Given the description of an element on the screen output the (x, y) to click on. 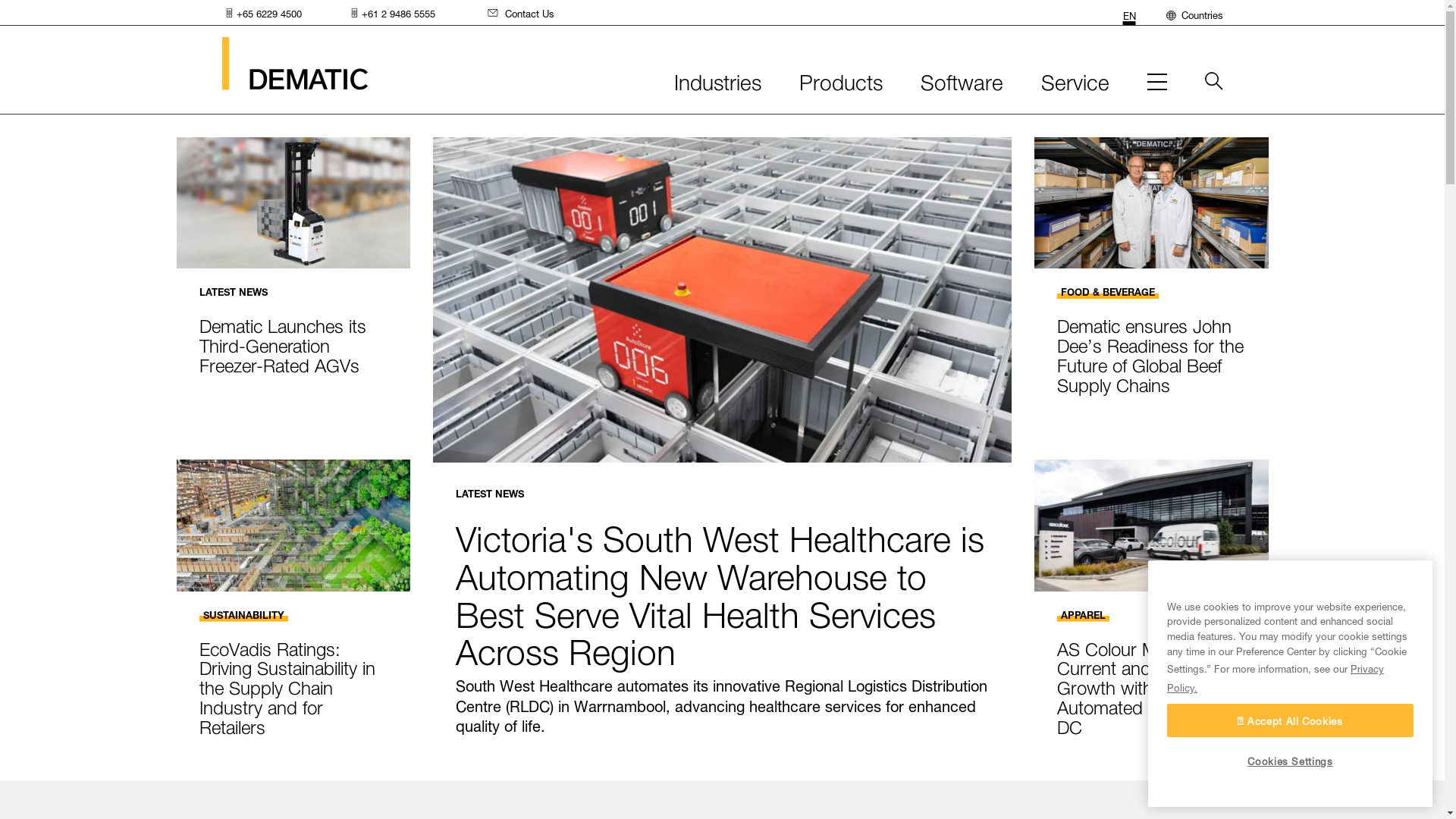
Ecovadis p20 Element type: hover (292, 524)
dematic logo Element type: hover (294, 63)
EN Element type: text (1128, 13)
Dematic Launches its Third-Generation Freezer-Rated AGVs Element type: text (281, 342)
dematic-3rd-gen-freezer-agvs.jpg Element type: hover (292, 202)
+65 6229 4500 Element type: text (261, 12)
Accept All Cookies Element type: text (1290, 720)
AS Colour Auckland Warehouse Element type: hover (1150, 524)
Contact Us Element type: text (517, 12)
FOOD & BEVERAGE Element type: text (1107, 291)
Industries Element type: text (716, 85)
Countries Element type: text (1194, 12)
+61 2 9486 5555 Element type: text (391, 12)
Cookies Settings Element type: text (1290, 760)
AutoStore Roboter Element type: hover (722, 299)
Software Element type: text (961, 85)
Products Element type: text (840, 85)
APPAREL Element type: text (1083, 614)
SUSTAINABILITY Element type: text (242, 614)
John Hart with Soeren Schauki Element type: hover (1150, 202)
Privacy Policy. Element type: text (1275, 677)
Service Element type: text (1074, 85)
